Given the description of an element on the screen output the (x, y) to click on. 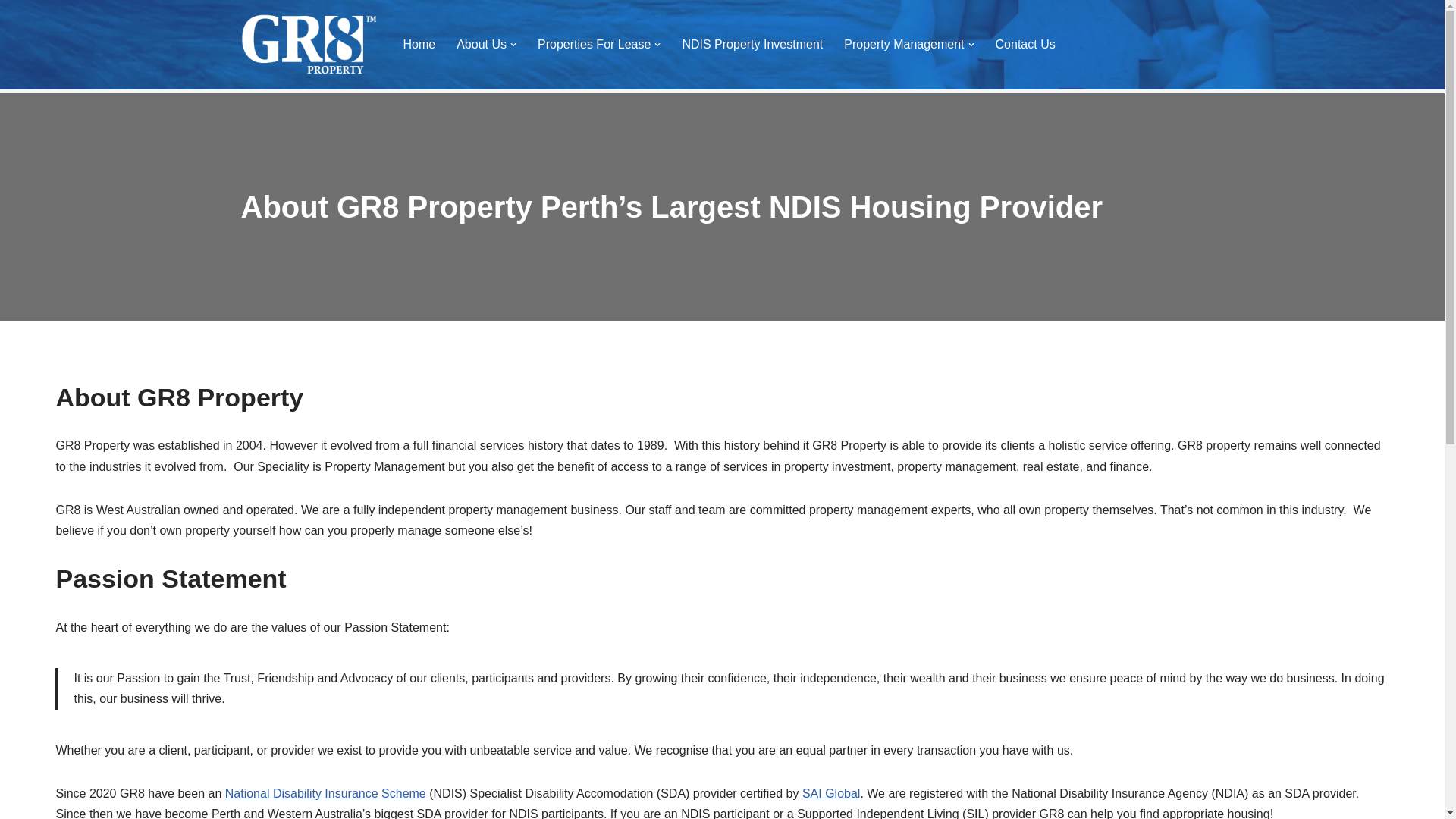
About Us Element type: text (481, 43)
Contact Us Element type: text (1025, 43)
NDIS Property Investment Element type: text (751, 43)
Properties For Lease Element type: text (593, 43)
Property Management Element type: text (903, 43)
SAI Global Element type: text (830, 793)
Home Element type: text (419, 43)
National Disability Insurance Scheme Element type: text (325, 793)
Skip to content Element type: text (11, 31)
